Given the description of an element on the screen output the (x, y) to click on. 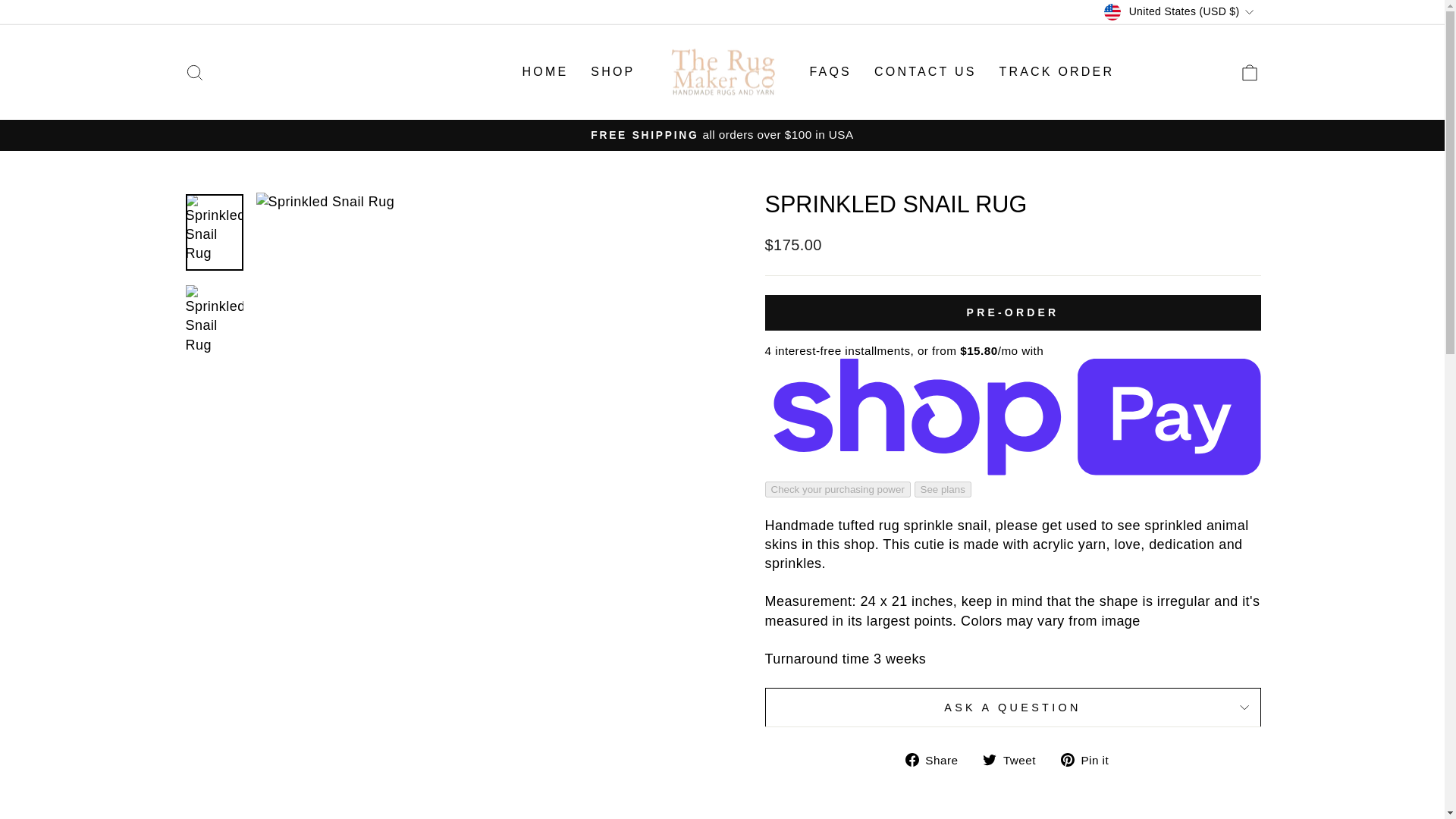
Share on Facebook (937, 759)
Tweet on Twitter (1014, 759)
Pin on Pinterest (1090, 759)
